Given the description of an element on the screen output the (x, y) to click on. 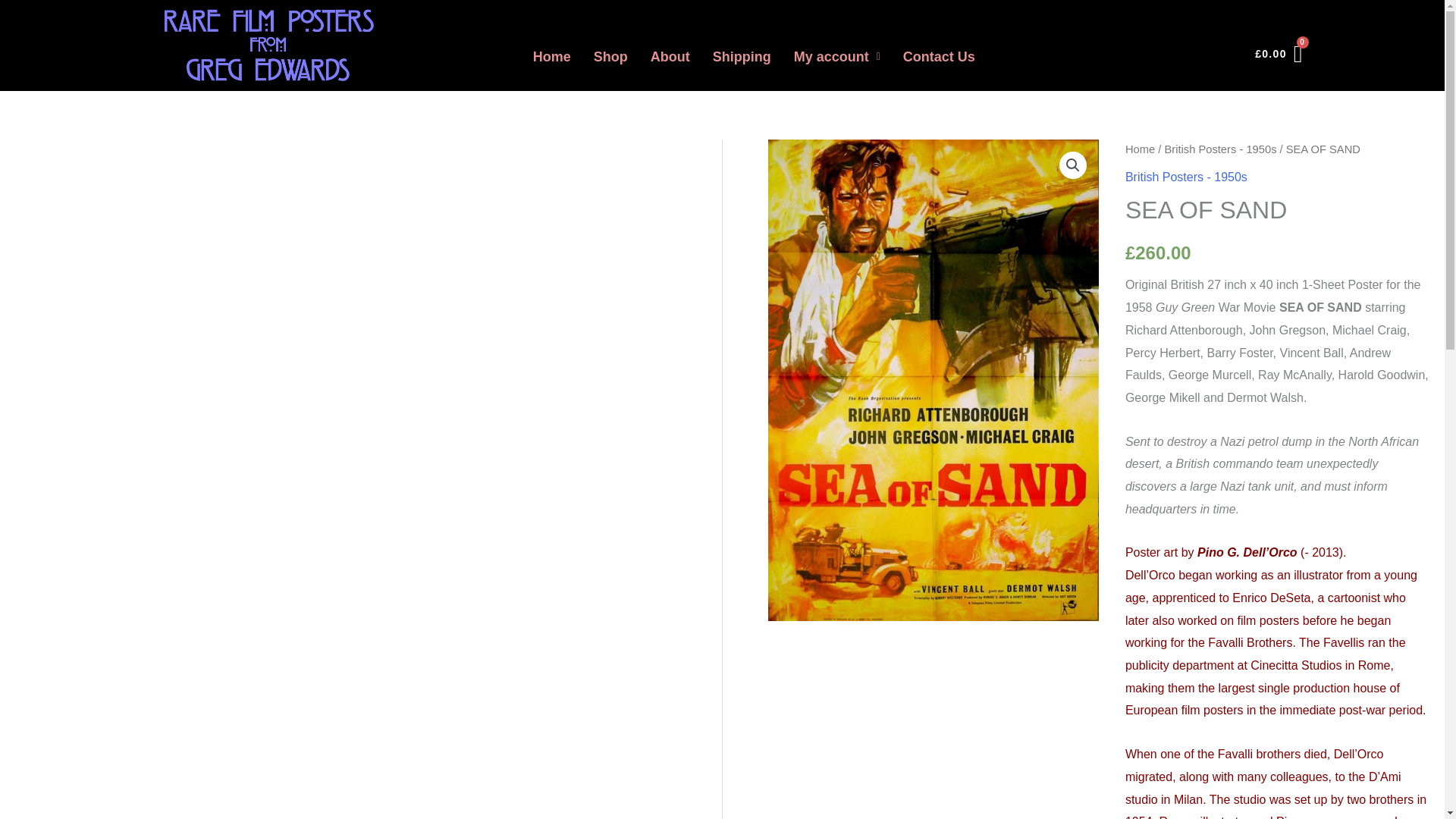
Home (551, 56)
Home (1139, 149)
British Posters - 1950s (1219, 149)
Shop (610, 56)
Shipping (742, 56)
My account (837, 56)
British Posters - 1950s (1186, 176)
Contact Us (939, 56)
About (670, 56)
